Given the description of an element on the screen output the (x, y) to click on. 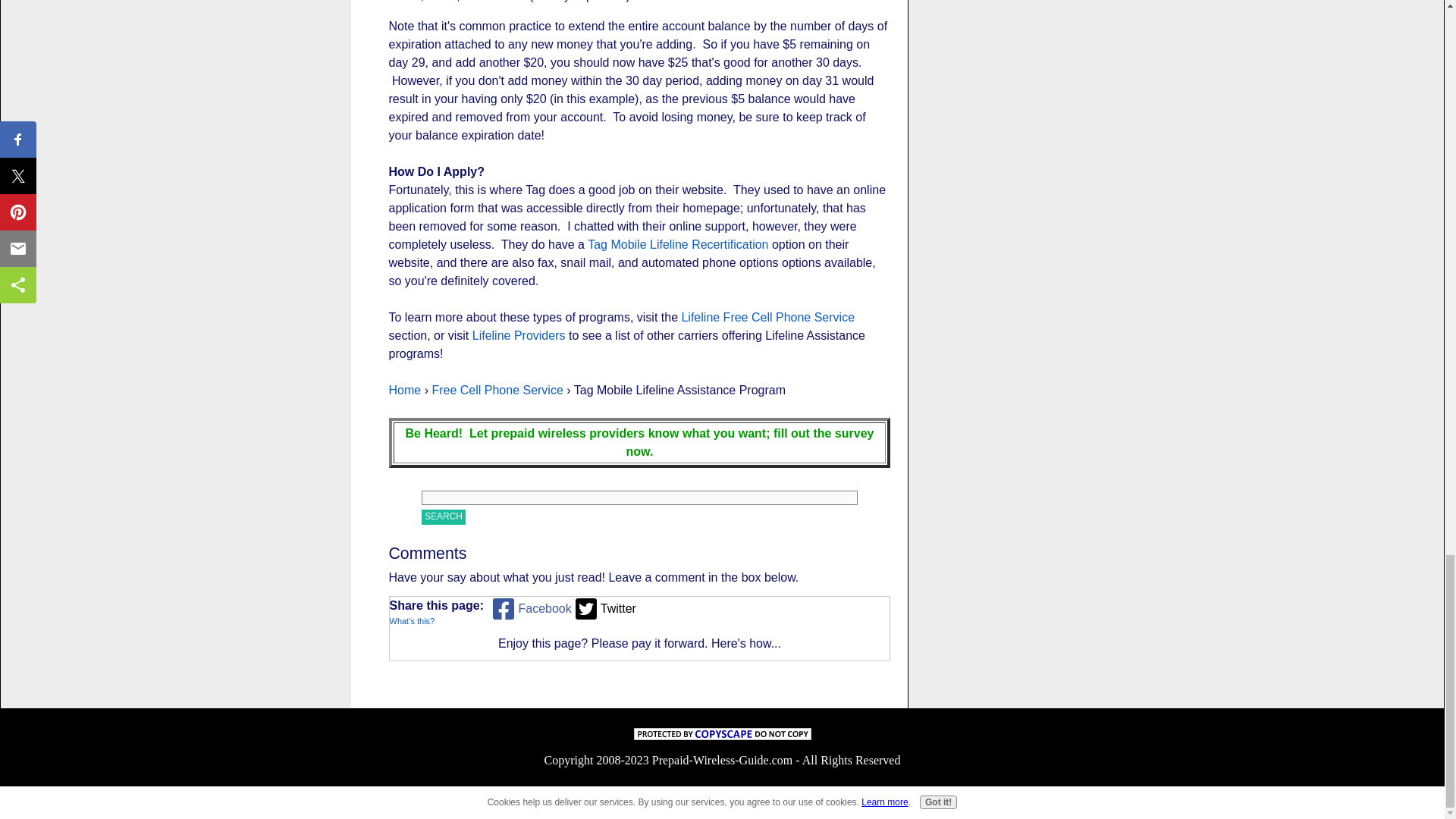
Search (443, 516)
